Given the description of an element on the screen output the (x, y) to click on. 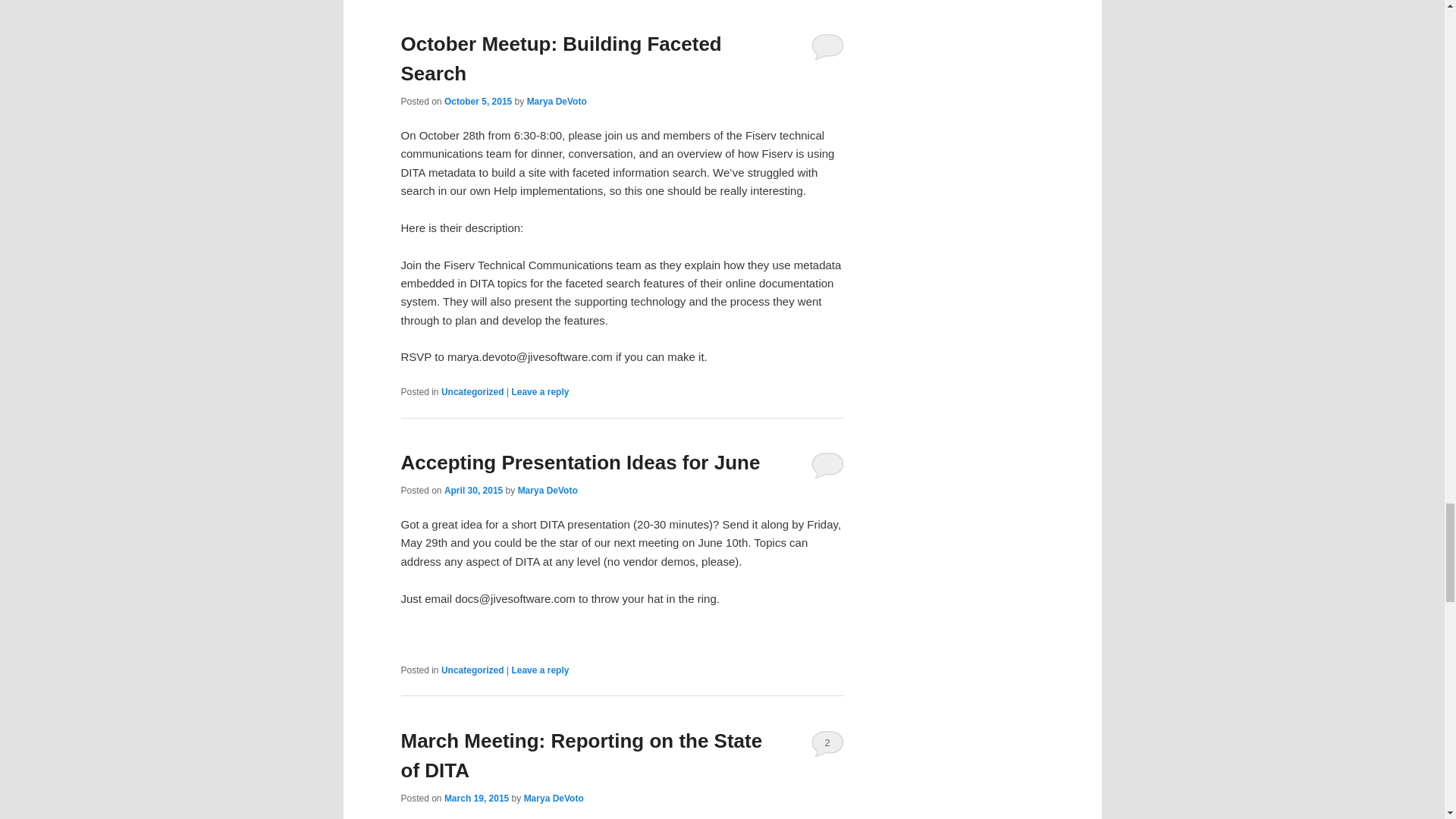
View all posts by Marya DeVoto (556, 101)
11:42 am (476, 798)
View all posts by Marya DeVoto (548, 490)
View all posts by Marya DeVoto (553, 798)
11:54 am (478, 101)
11:28 am (473, 490)
